Given the description of an element on the screen output the (x, y) to click on. 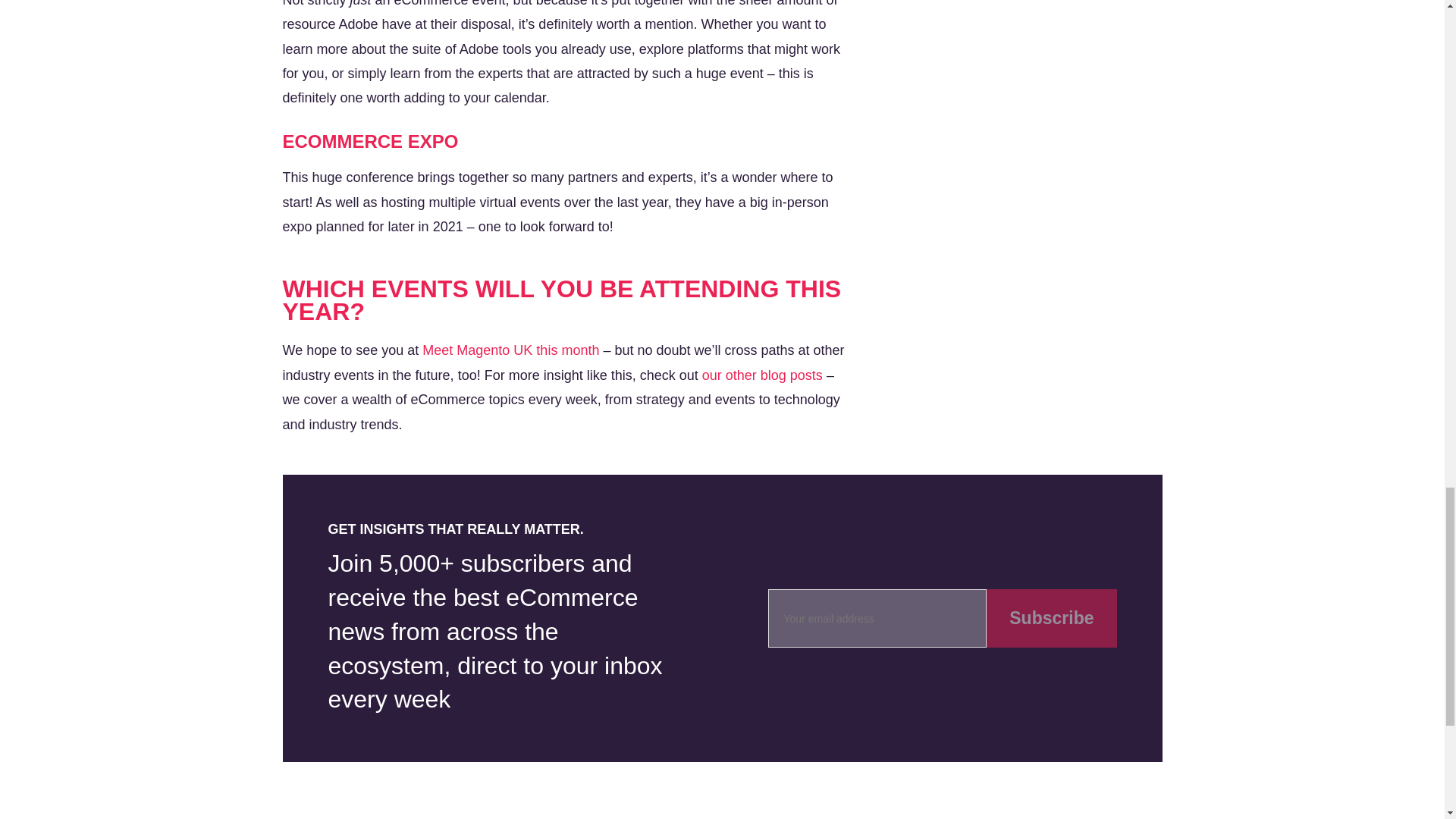
our other blog posts (761, 375)
Meet Magento UK this month (510, 350)
Subscribe (1051, 617)
Subscribe (1051, 617)
ECOMMERCE EXPO (370, 141)
